Given the description of an element on the screen output the (x, y) to click on. 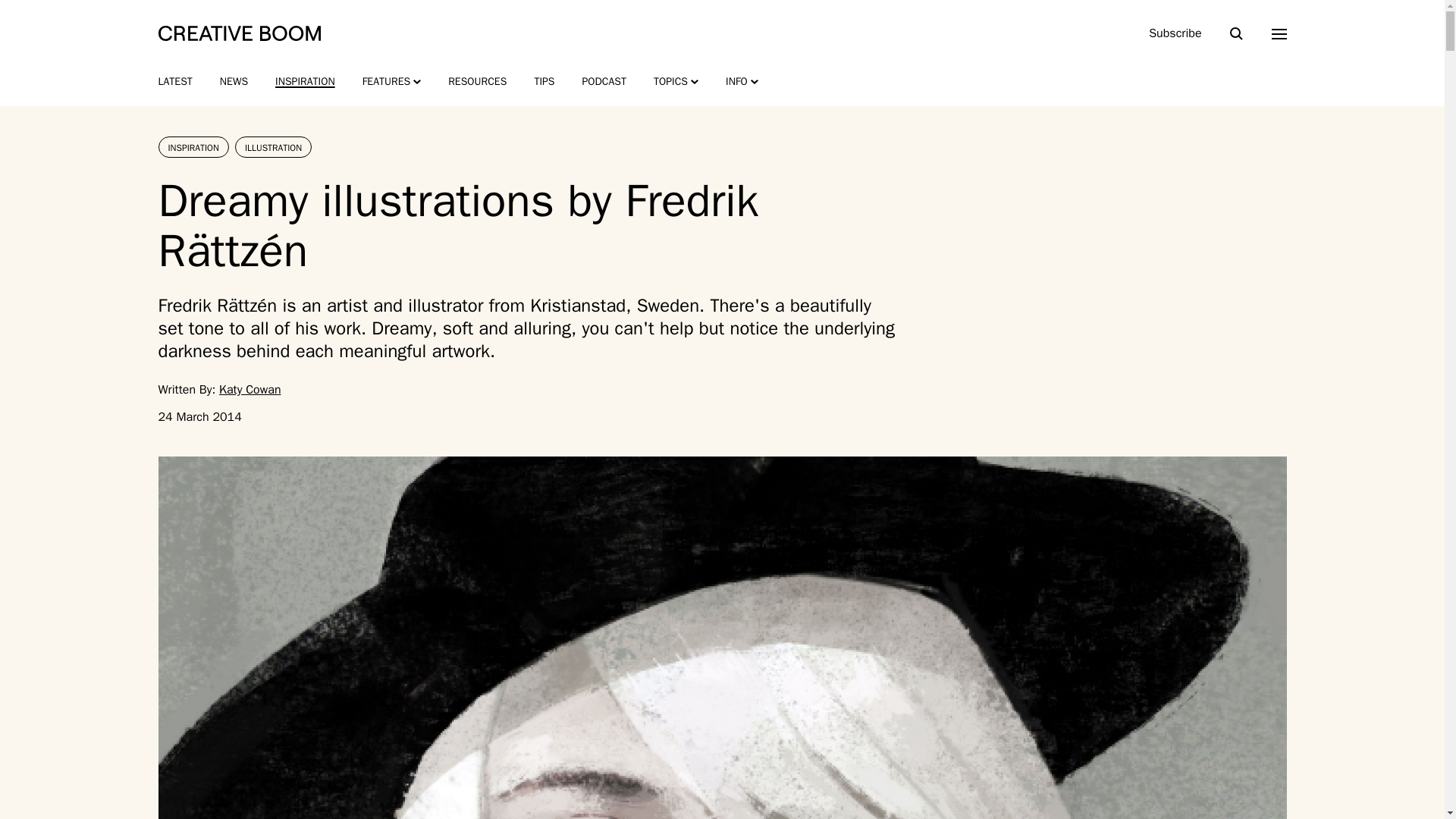
TOPICS (675, 81)
Subscribe (1174, 33)
INSPIRATION (304, 81)
FEATURES (392, 81)
PODCAST (604, 81)
RESOURCES (477, 81)
